Given the description of an element on the screen output the (x, y) to click on. 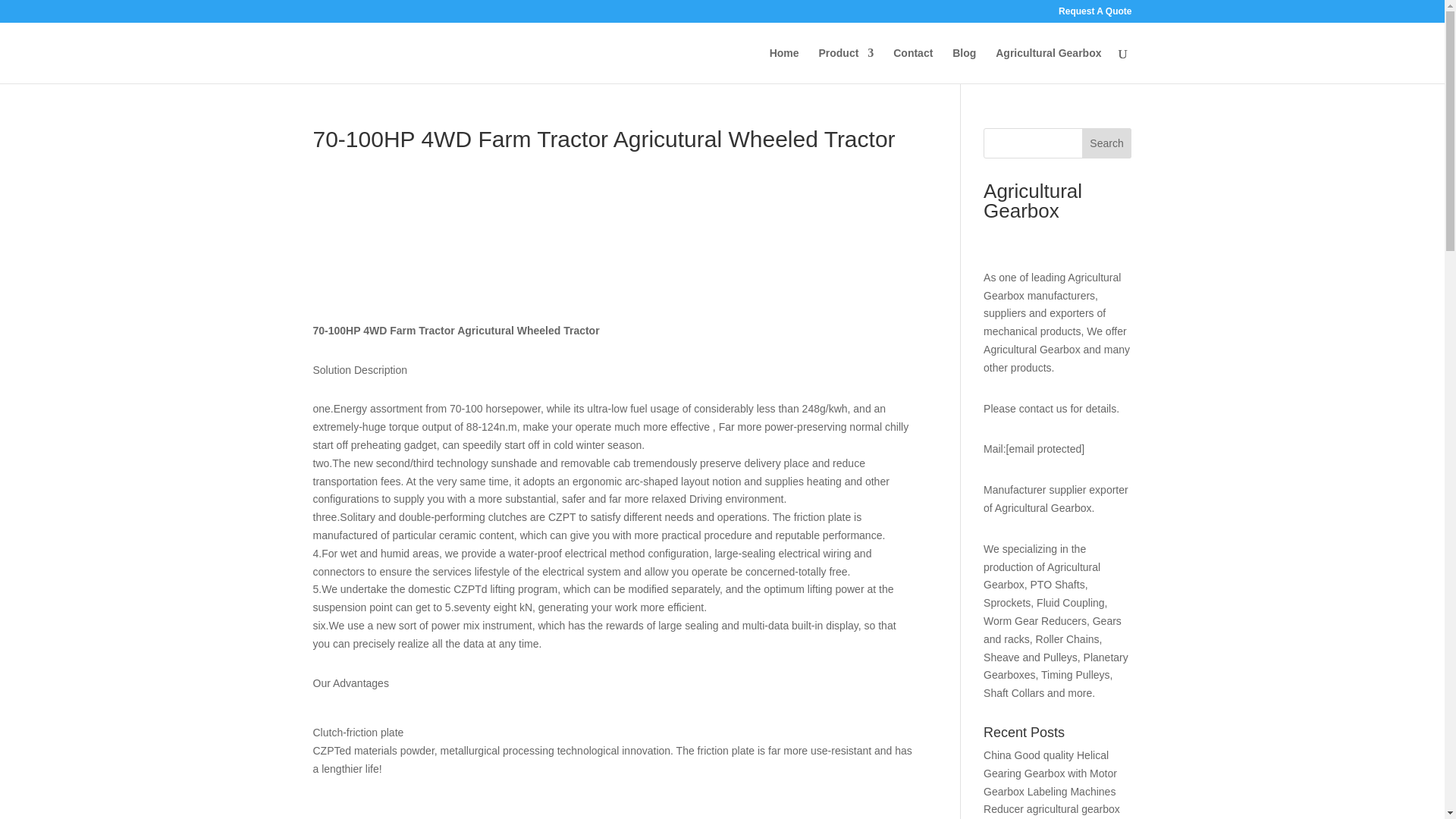
Product (845, 65)
Search (1106, 142)
Request A Quote (1094, 14)
Contact (913, 65)
Search (1106, 142)
70-100HP 4WD Farm Tractor Agricutural Wheeled Tractor (426, 237)
Agricultural Gearbox (1047, 65)
